Given the description of an element on the screen output the (x, y) to click on. 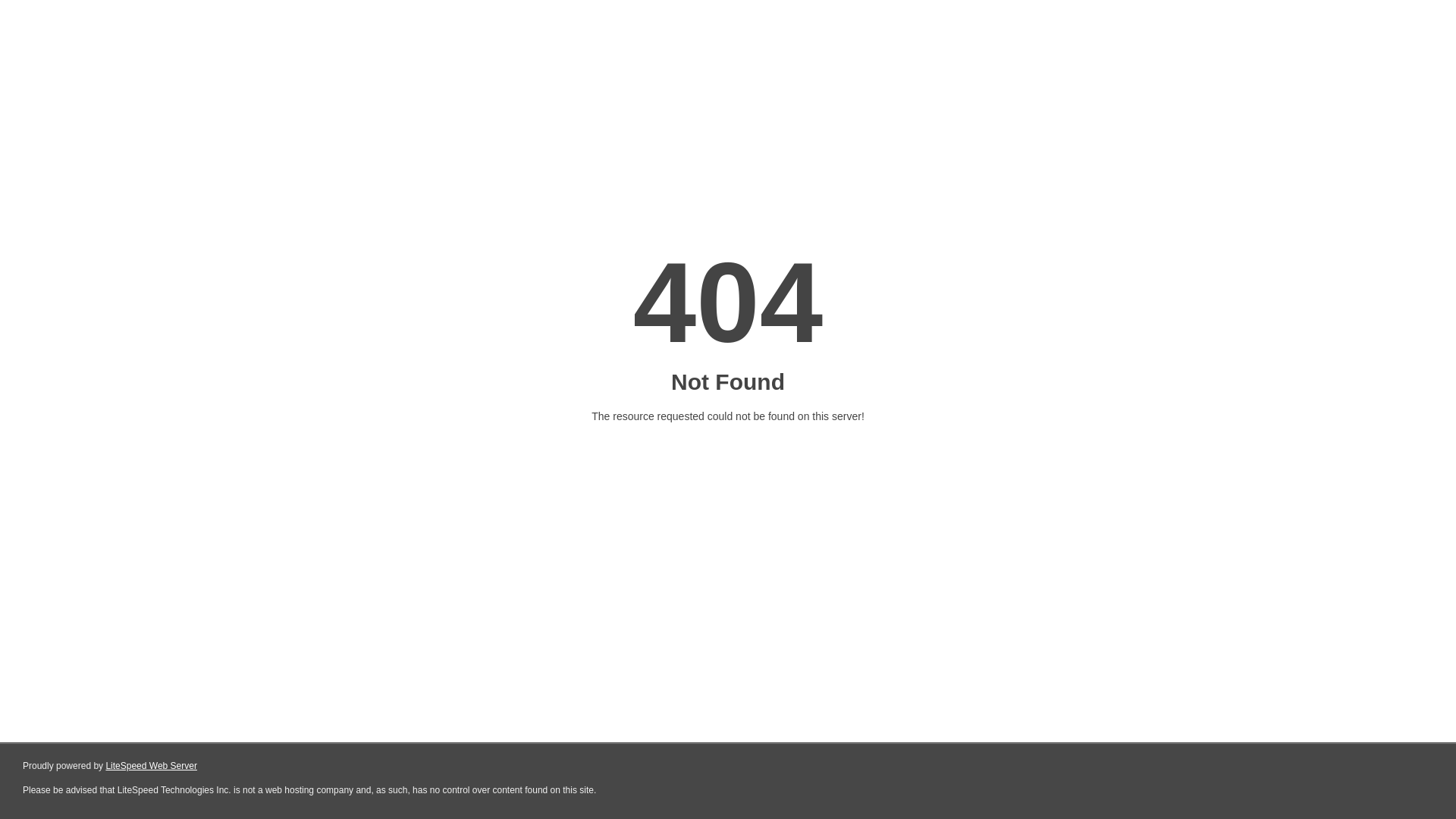
LiteSpeed Web Server Element type: text (151, 765)
